Given the description of an element on the screen output the (x, y) to click on. 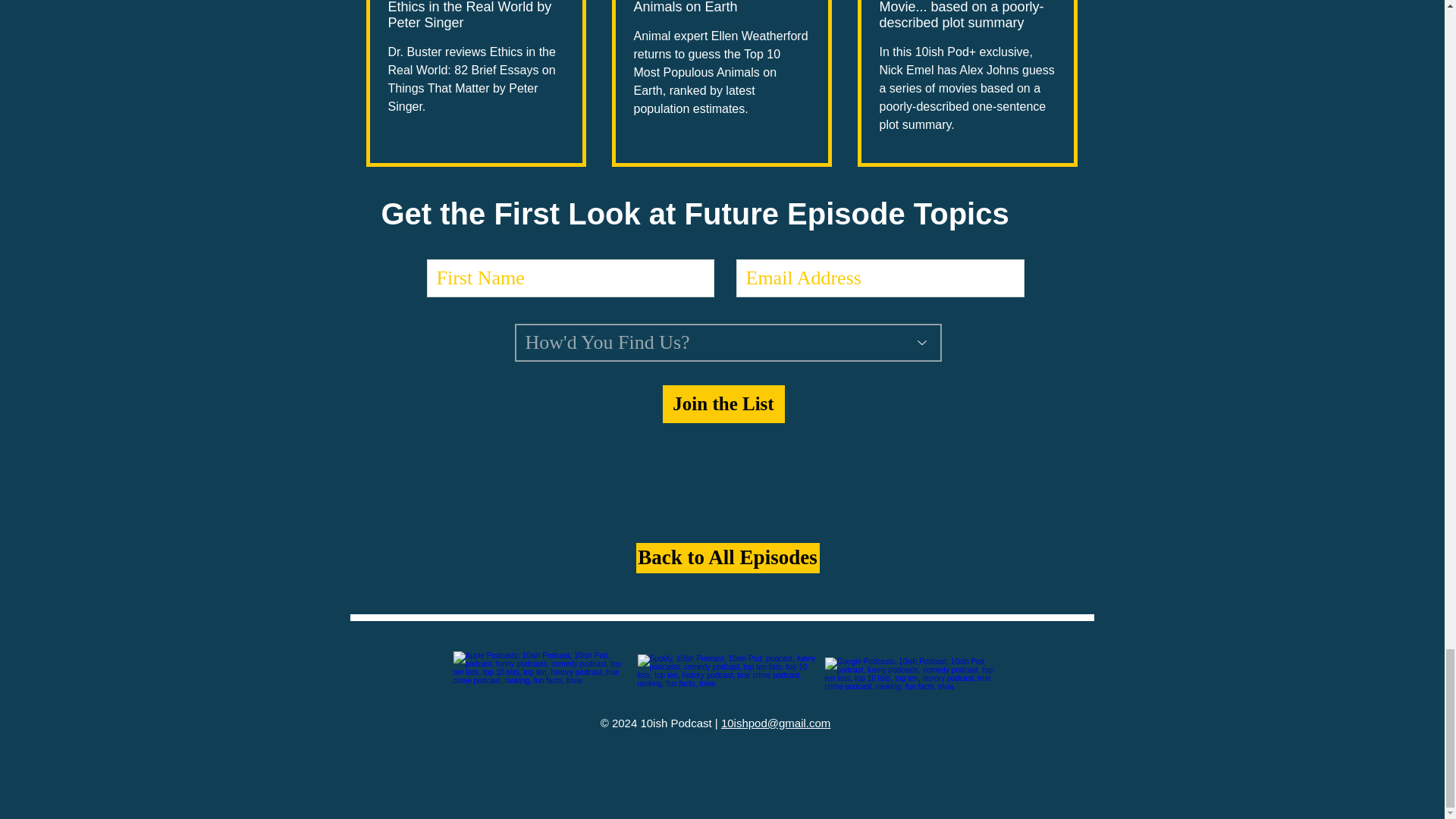
Ep. 269: Most Populous Animals on Earth (721, 7)
